Given the description of an element on the screen output the (x, y) to click on. 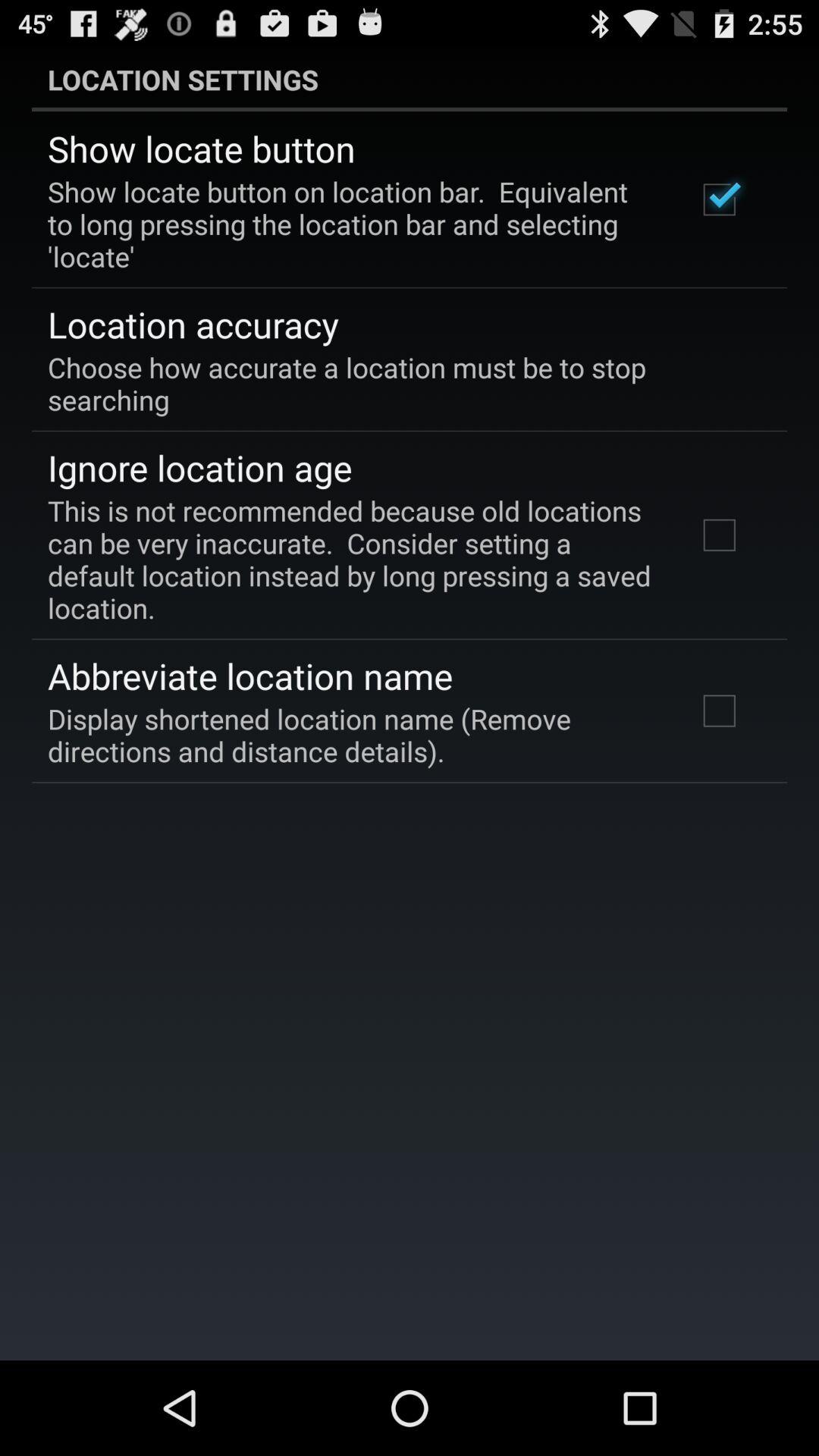
choose item below the abbreviate location name app (351, 735)
